Given the description of an element on the screen output the (x, y) to click on. 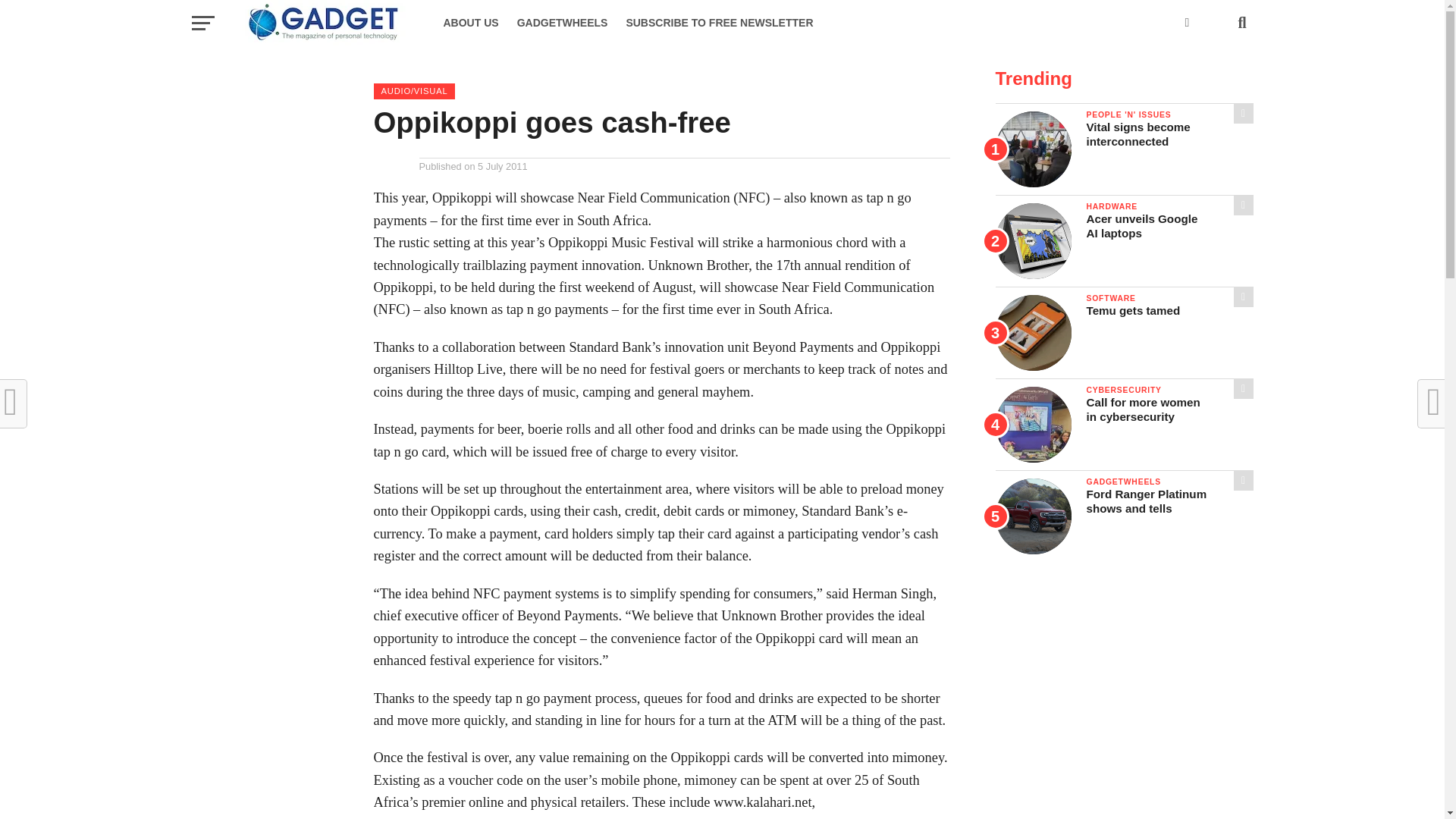
GADGETWHEELS (562, 22)
ABOUT US (469, 22)
SUBSCRIBE TO FREE NEWSLETTER (718, 22)
